Given the description of an element on the screen output the (x, y) to click on. 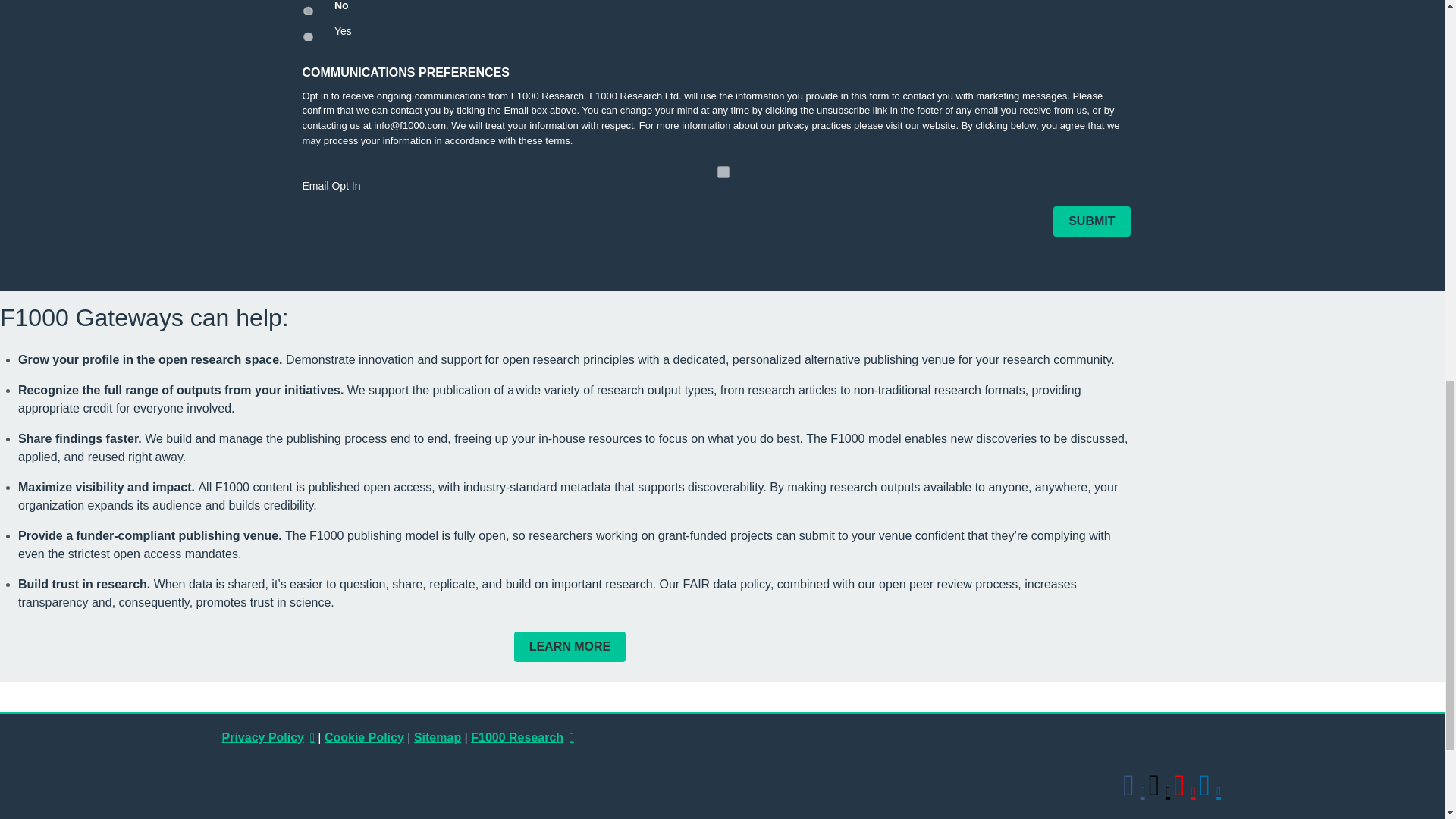
Cookie Policy (364, 737)
Email Opt In (722, 172)
Sitemap (437, 737)
F1000 Research (521, 737)
Cookie Policy (364, 737)
Submit (1090, 221)
F1000 Research (521, 737)
Sitemap (437, 737)
Privacy Policy (267, 737)
Submit (1090, 221)
